Given the description of an element on the screen output the (x, y) to click on. 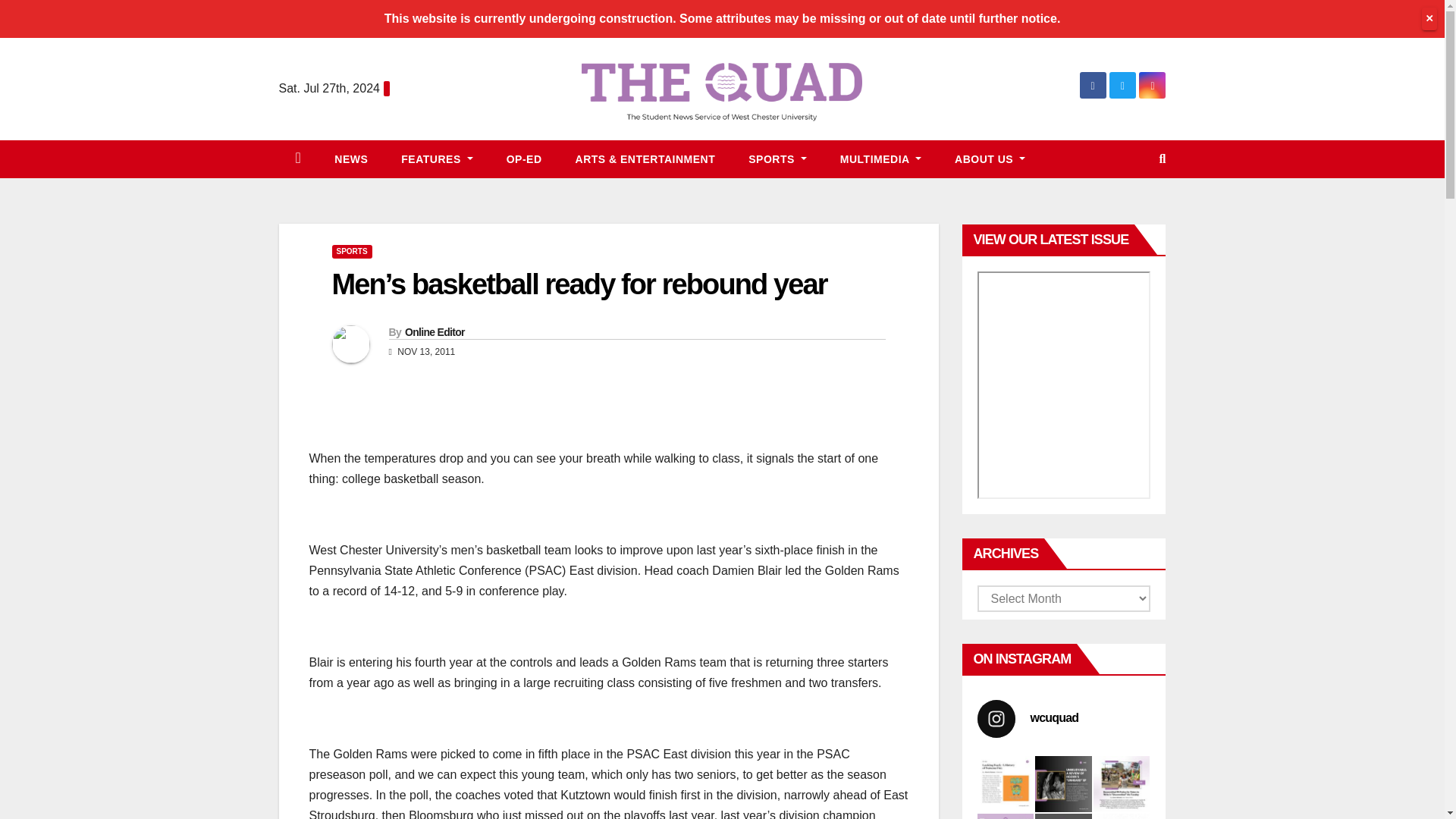
Op-Ed (524, 159)
Features (436, 159)
MULTIMEDIA (880, 159)
ABOUT US (989, 159)
News (350, 159)
NEWS (350, 159)
SPORTS (778, 159)
Sports (778, 159)
OP-ED (524, 159)
FEATURES (436, 159)
